Given the description of an element on the screen output the (x, y) to click on. 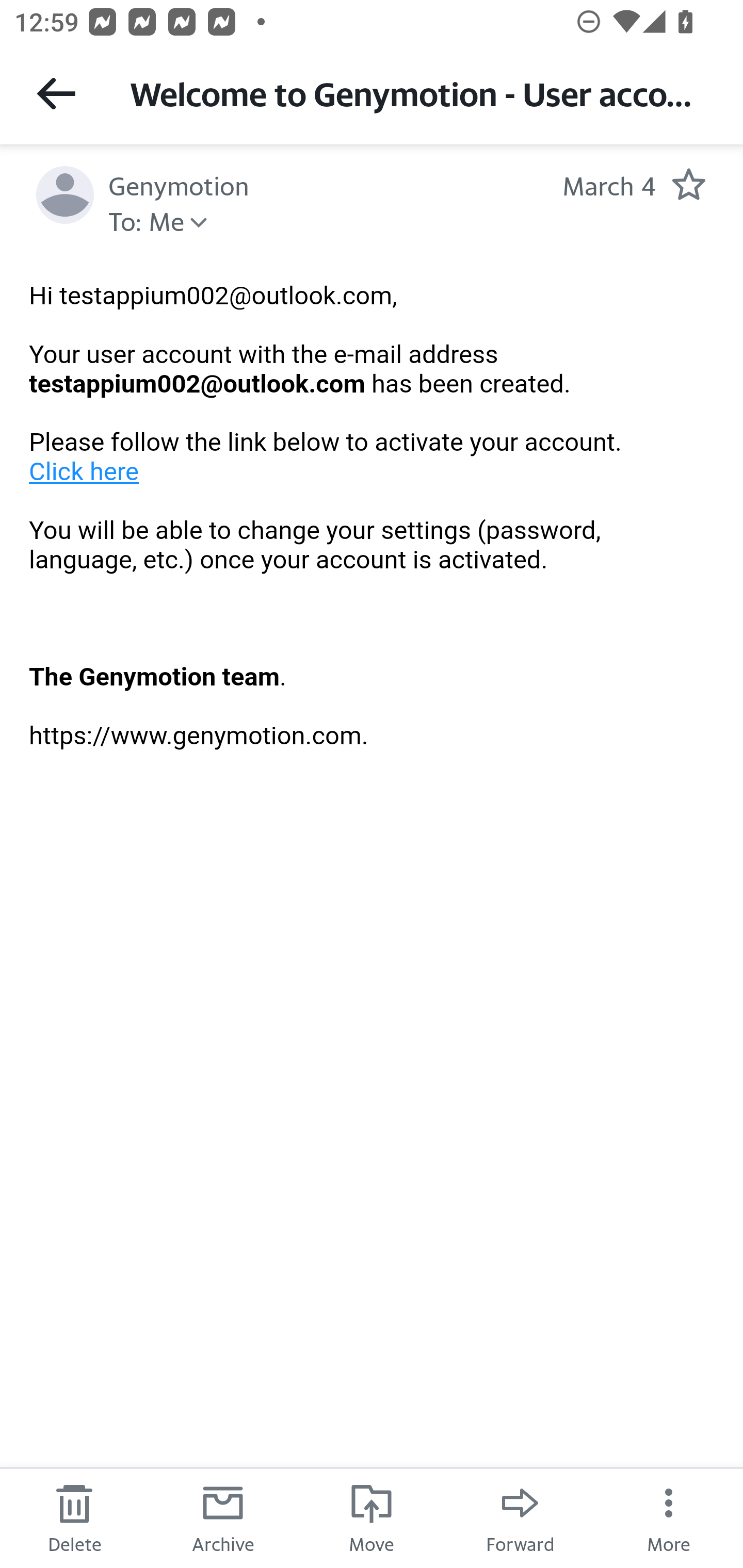
Back (55, 92)
Profile (64, 195)
Genymotion Sender Genymotion (178, 184)
Mark as starred. (688, 184)
Click here (84, 470)
Delete (74, 1517)
Archive (222, 1517)
Move (371, 1517)
Forward (519, 1517)
More (668, 1517)
